Given the description of an element on the screen output the (x, y) to click on. 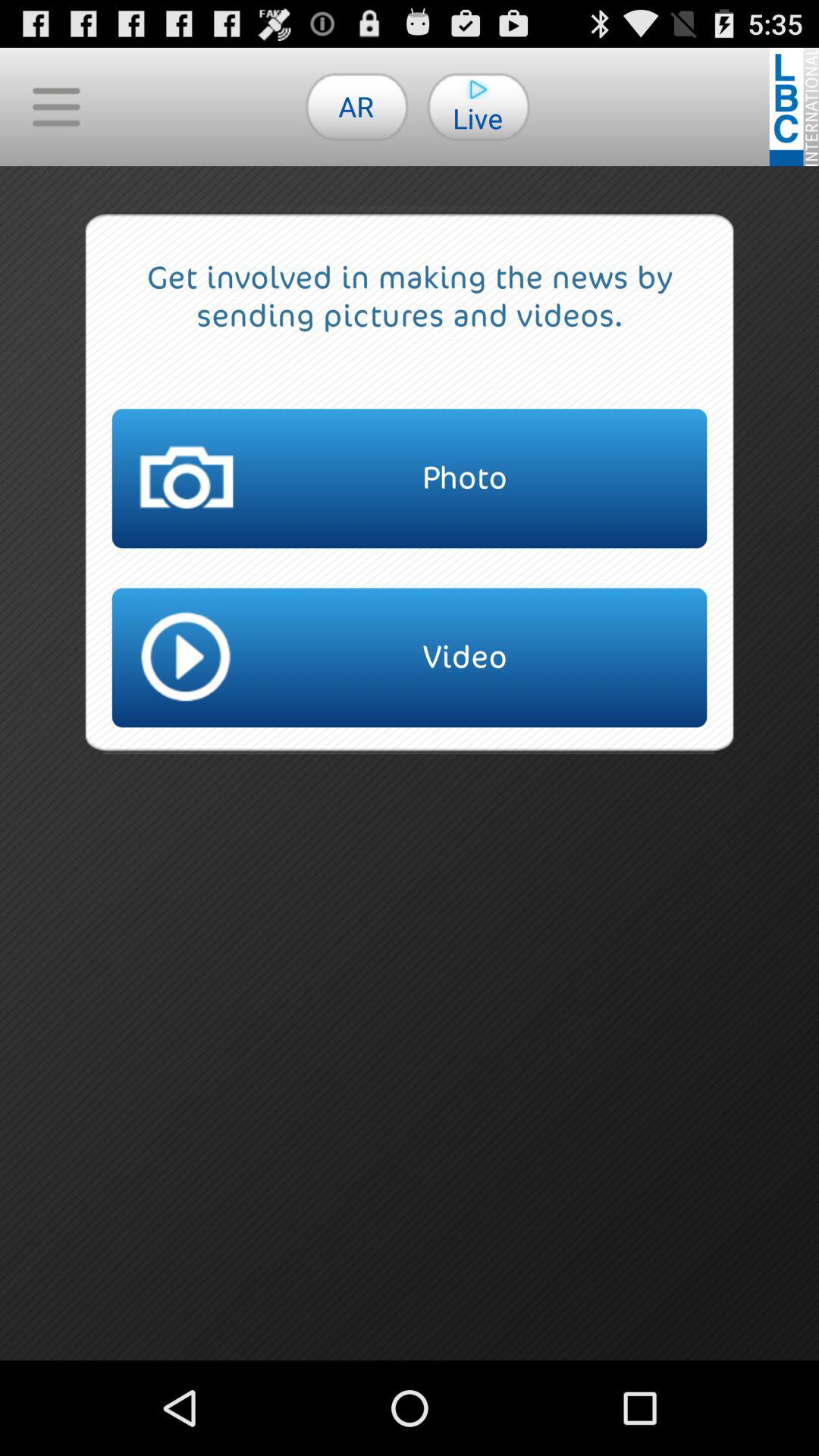
choose icon next to live item (356, 106)
